Given the description of an element on the screen output the (x, y) to click on. 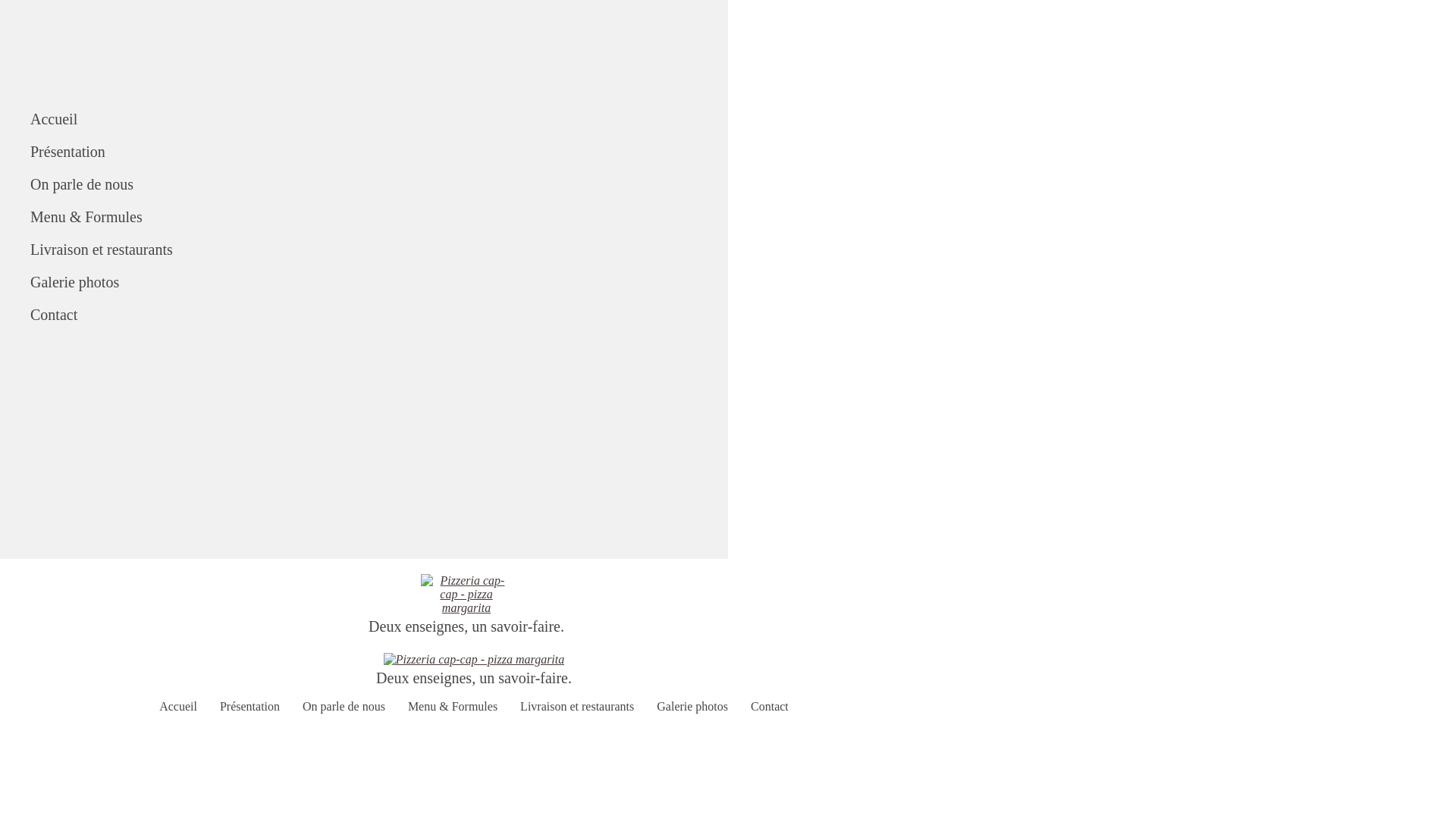
Accueil Element type: text (177, 706)
Galerie photos Element type: text (394, 282)
Contact Element type: text (769, 706)
Accueil Element type: text (394, 119)
On parle de nous Element type: text (343, 706)
Menu & Formules Element type: text (452, 706)
Contact Element type: text (394, 314)
Galerie photos Element type: text (692, 706)
Livraison et restaurants Element type: text (576, 706)
Livraison et restaurants Element type: text (394, 249)
Menu & Formules Element type: text (394, 216)
On parle de nous Element type: text (394, 184)
